Given the description of an element on the screen output the (x, y) to click on. 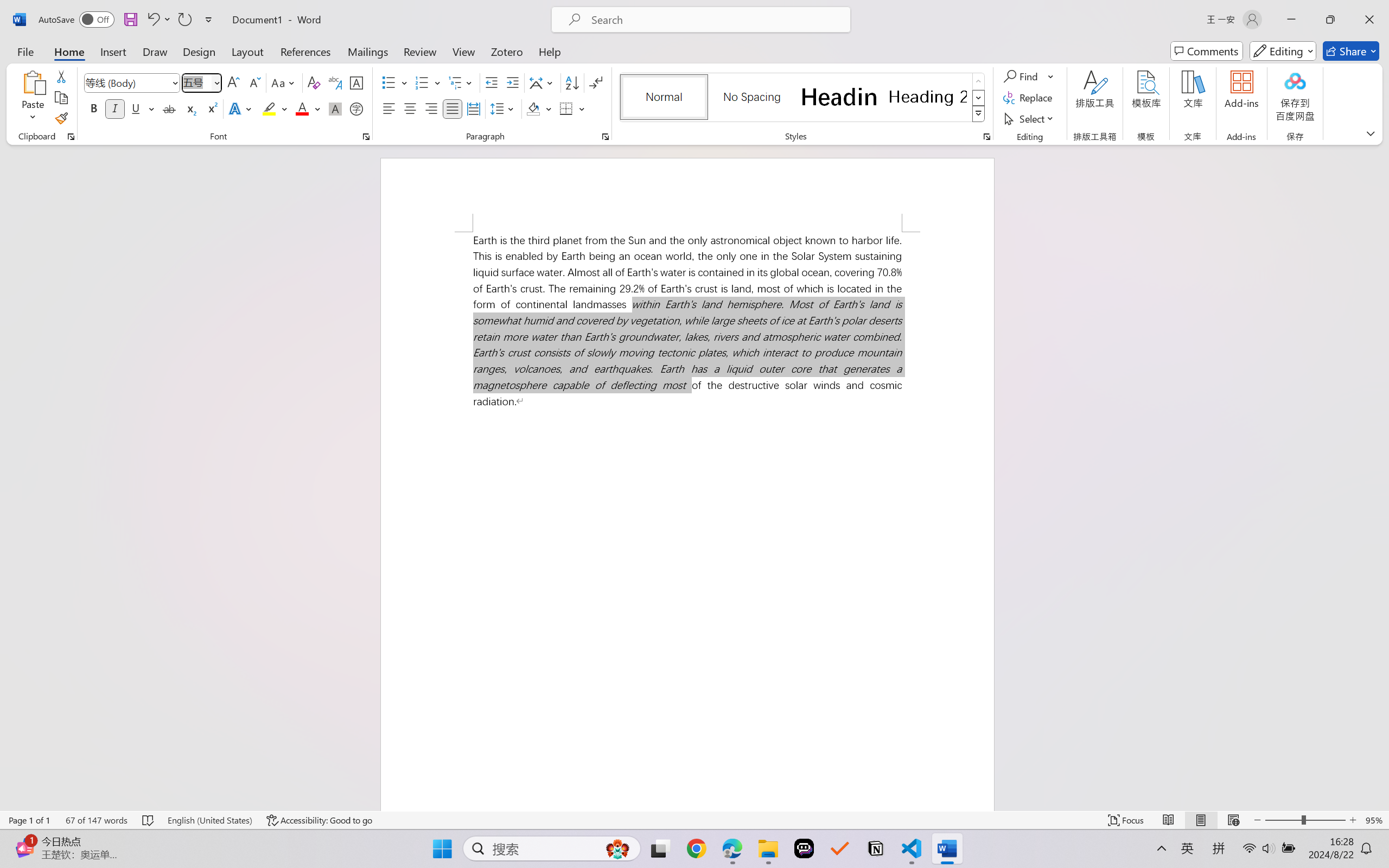
Page 1 content (687, 521)
Class: NetUIScrollBar (1382, 477)
Paragraph... (605, 136)
